Given the description of an element on the screen output the (x, y) to click on. 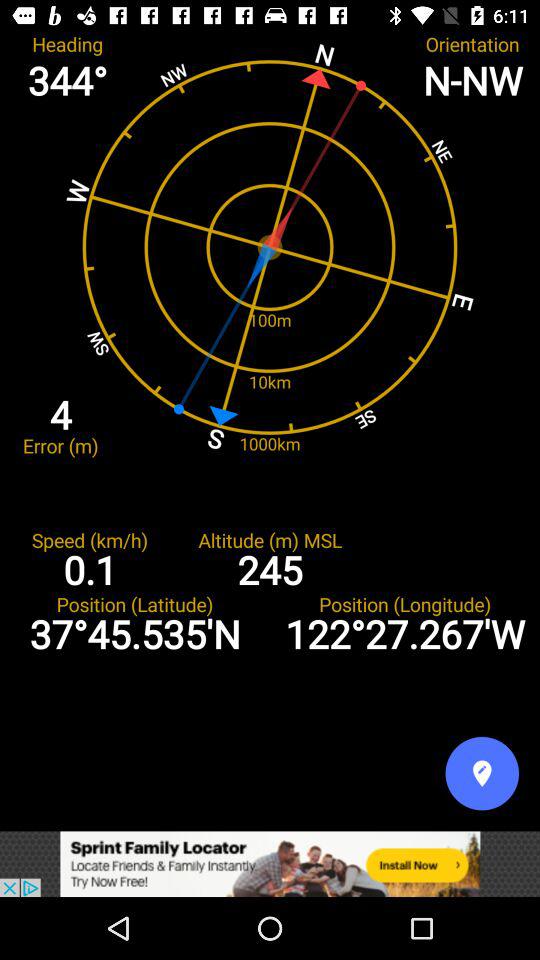
direction indicator compass (482, 773)
